Given the description of an element on the screen output the (x, y) to click on. 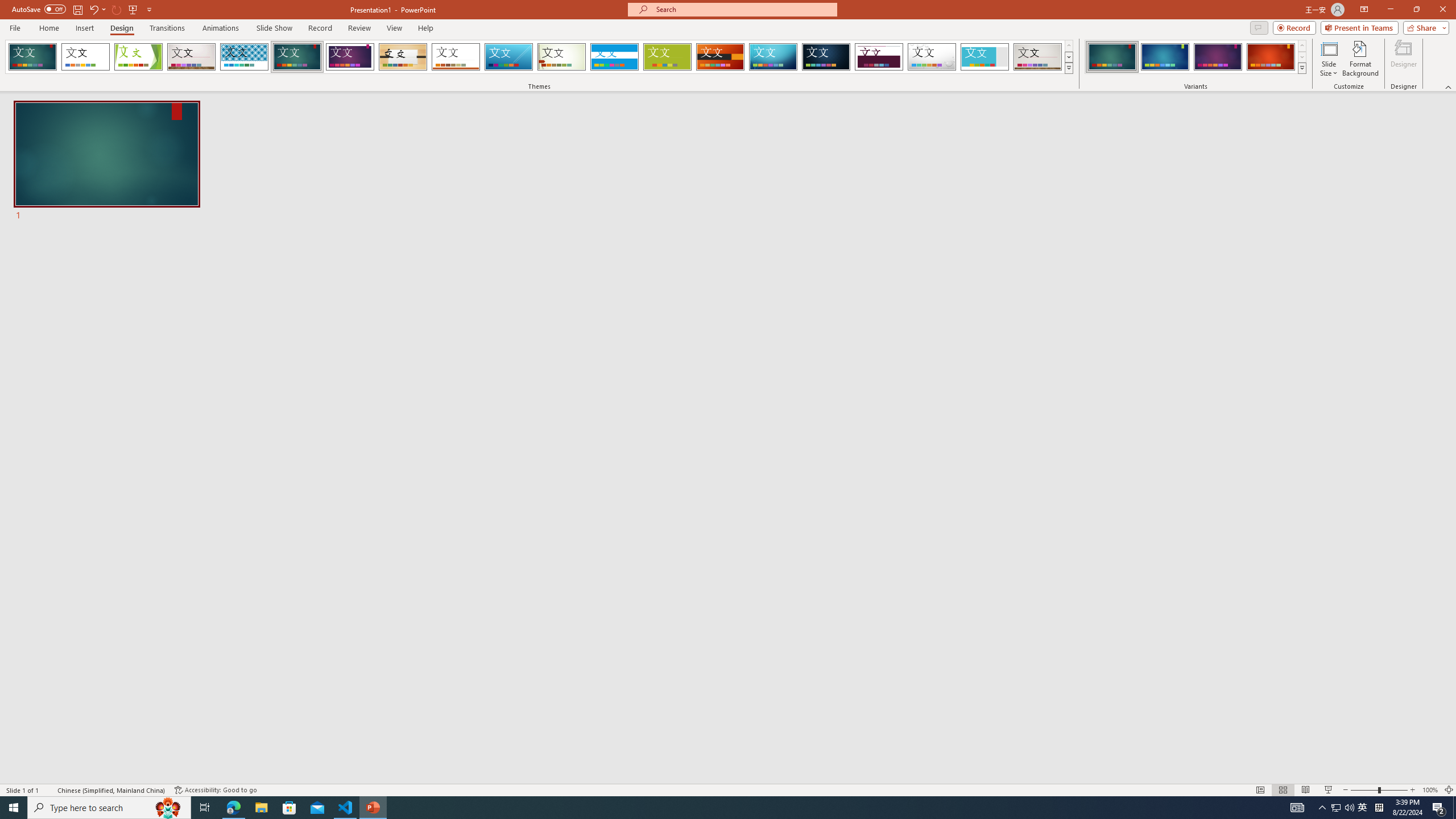
Ion Variant 4 (1270, 56)
